Given the description of an element on the screen output the (x, y) to click on. 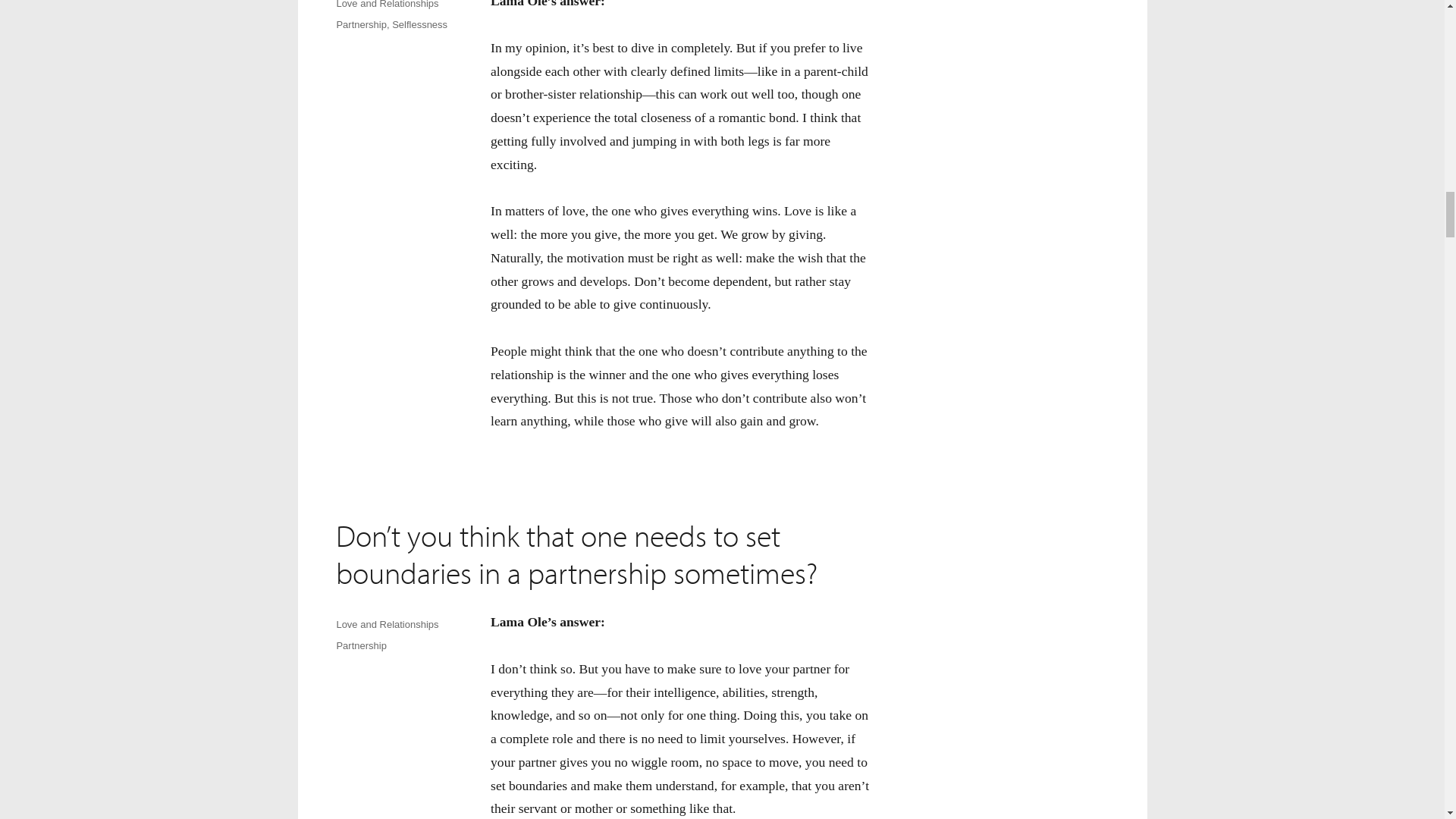
Partnership (360, 24)
Love and Relationships (387, 4)
